Given the description of an element on the screen output the (x, y) to click on. 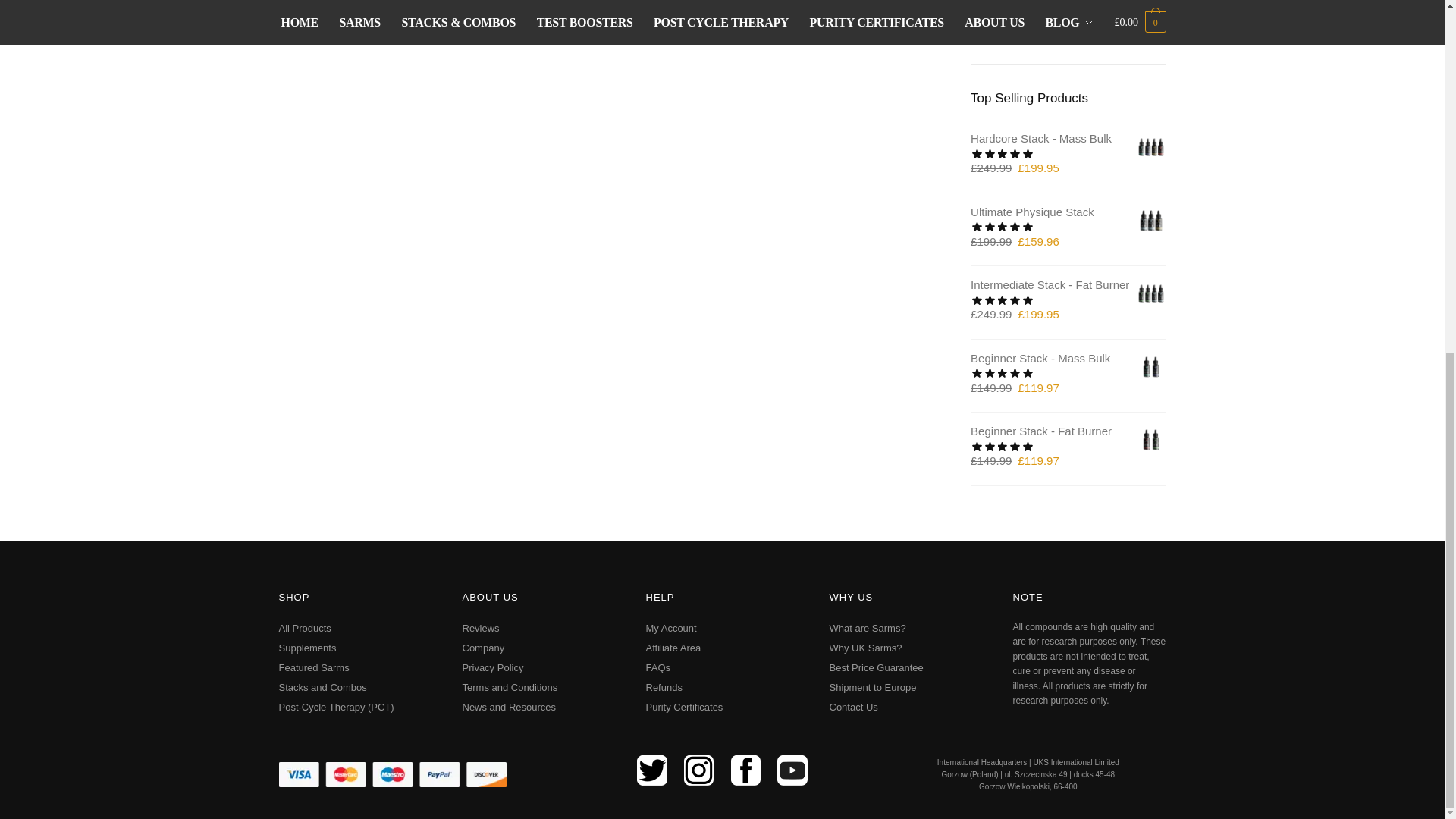
Which SARM is the strongest? (392, 774)
What is the safest SARM? (349, 26)
Ultimate Physique Stack (1150, 221)
